Given the description of an element on the screen output the (x, y) to click on. 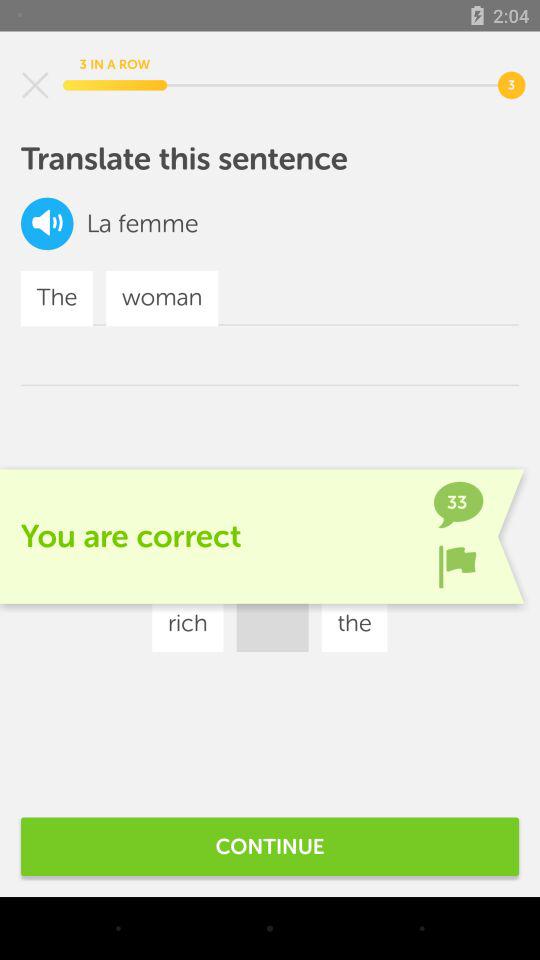
swipe to femme icon (158, 223)
